Given the description of an element on the screen output the (x, y) to click on. 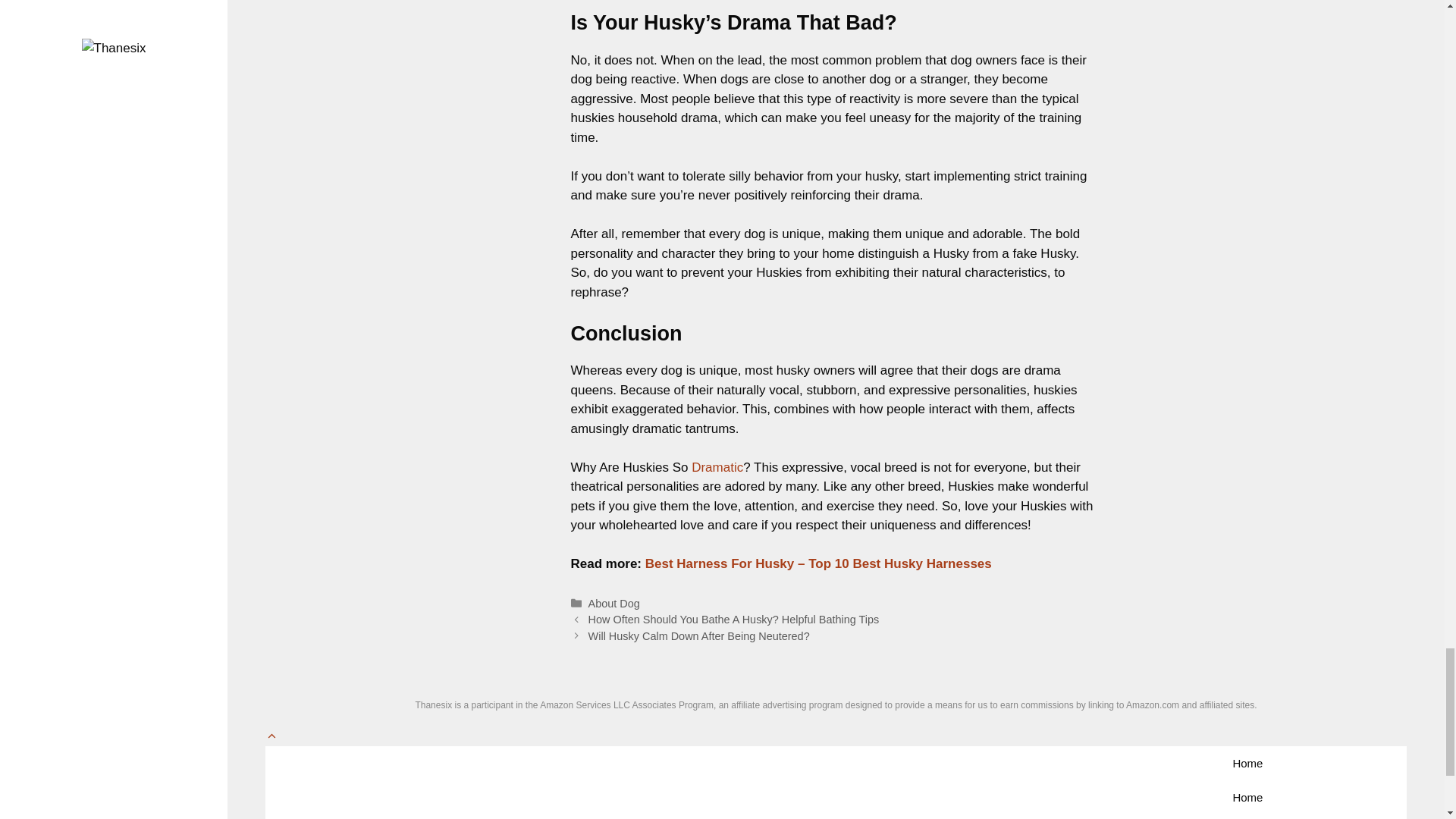
Scroll back to top (271, 736)
How Often Should You Bathe A Husky? Helpful Bathing Tips (733, 619)
Dramatic (716, 467)
About Dog (614, 603)
Will Husky Calm Down After Being Neutered? (698, 635)
